Given the description of an element on the screen output the (x, y) to click on. 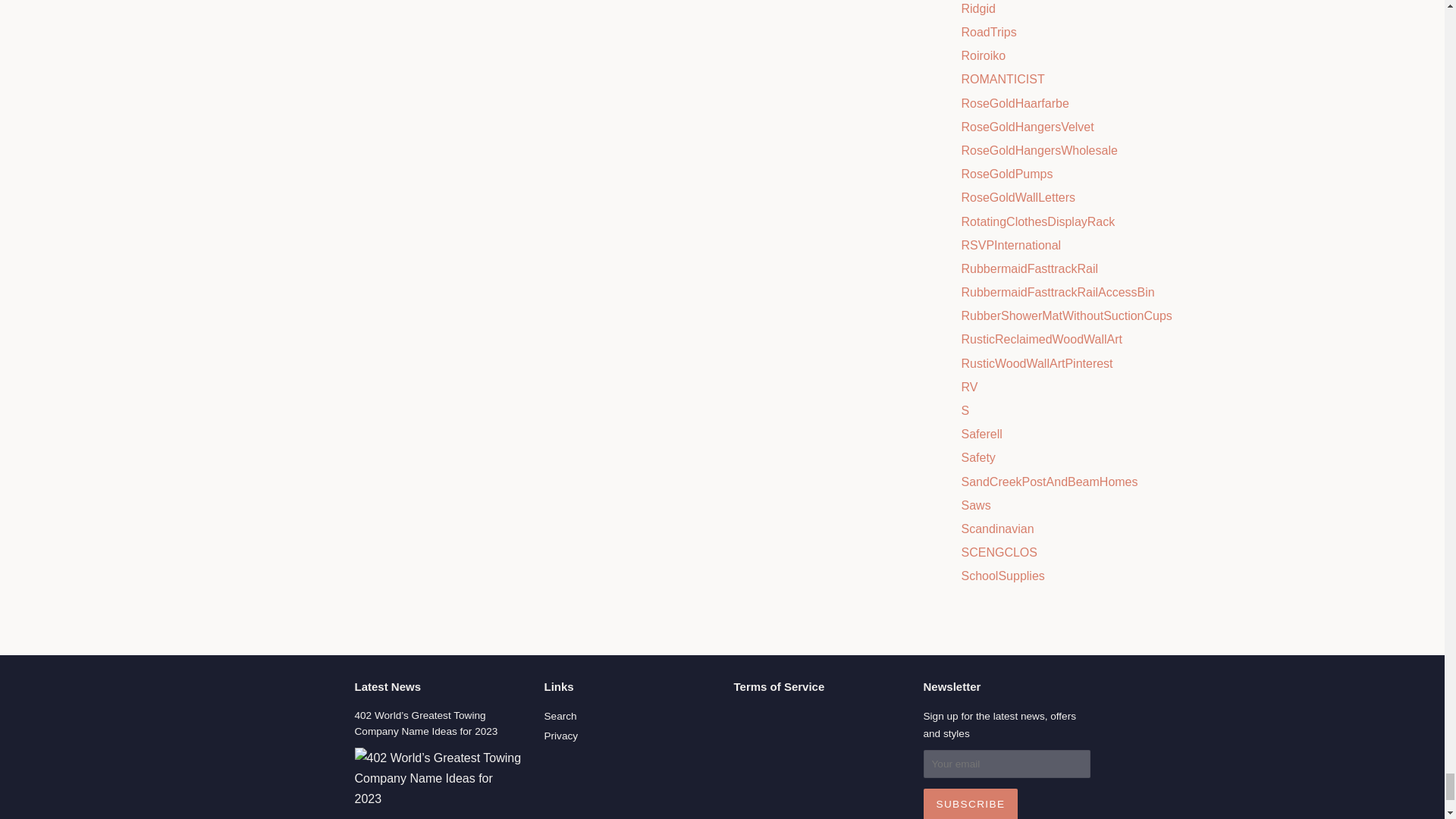
Subscribe (970, 803)
